Given the description of an element on the screen output the (x, y) to click on. 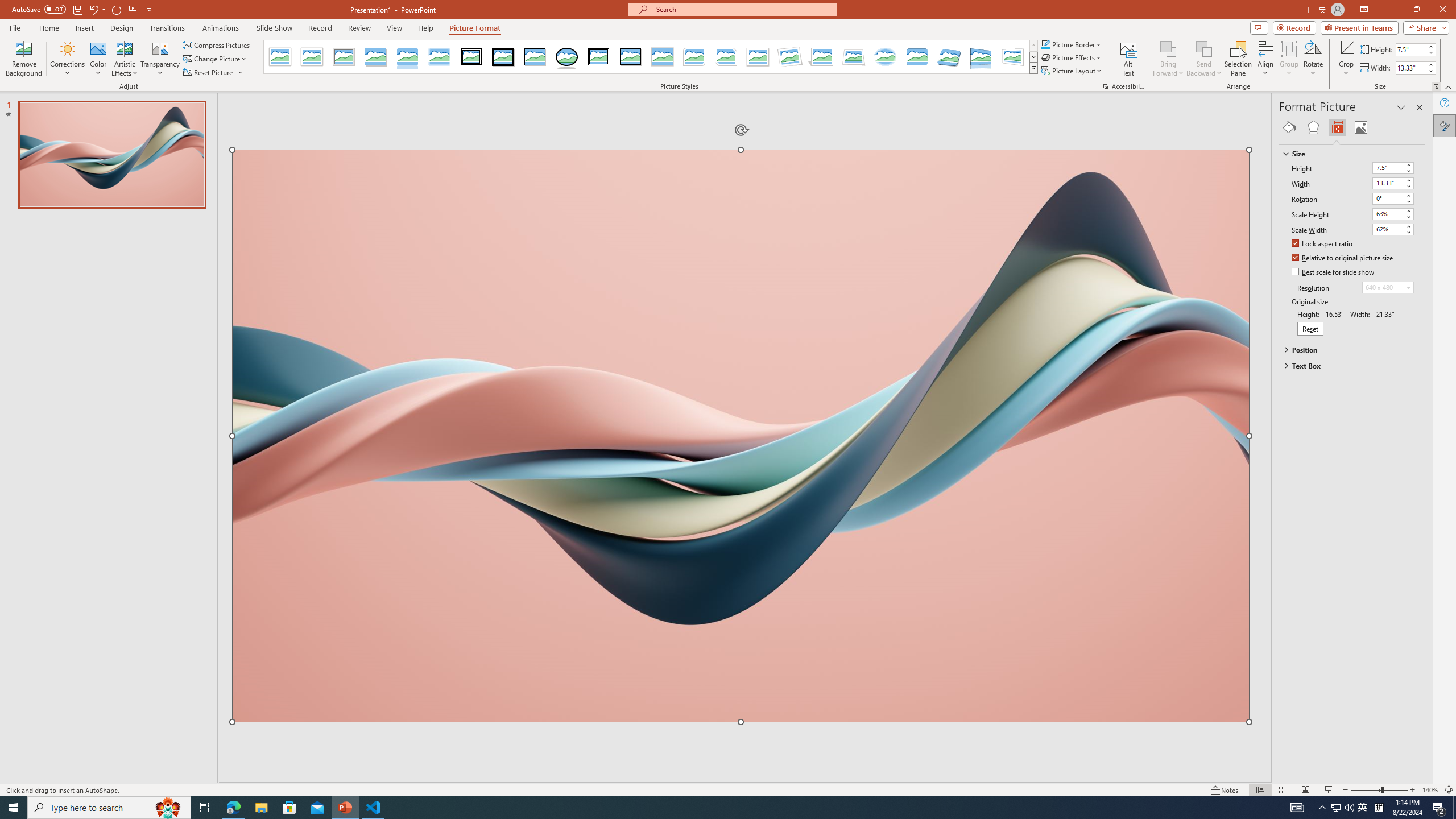
Transitions (167, 28)
Quick Access Toolbar (82, 9)
Reading View (1305, 790)
Picture... (1104, 85)
Height (1388, 167)
Rounded Diagonal Corner, White (694, 56)
Change Picture (216, 58)
Collapse the Ribbon (1448, 86)
AutoSave (38, 9)
Align (1264, 58)
Size and Position... (1435, 85)
Reflected Perspective Right (981, 56)
Simple Frame, Black (535, 56)
Center Shadow Rectangle (662, 56)
